Given the description of an element on the screen output the (x, y) to click on. 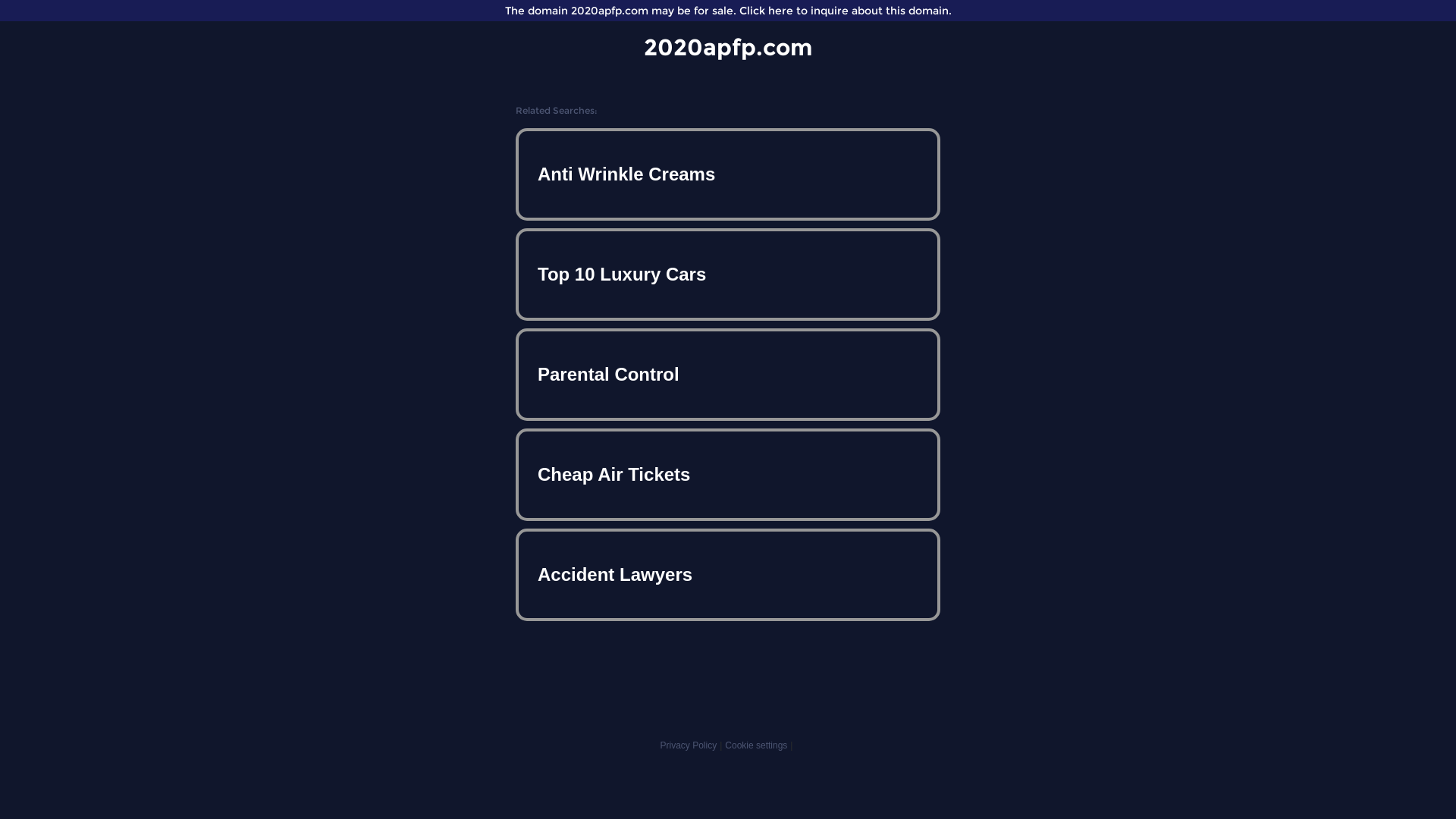
Anti Wrinkle Creams Element type: text (727, 174)
Top 10 Luxury Cars Element type: text (727, 274)
Parental Control Element type: text (727, 374)
Cookie settings Element type: text (755, 745)
Cheap Air Tickets Element type: text (727, 474)
Privacy Policy Element type: text (687, 745)
Accident Lawyers Element type: text (727, 574)
2020apfp.com Element type: text (727, 47)
